Given the description of an element on the screen output the (x, y) to click on. 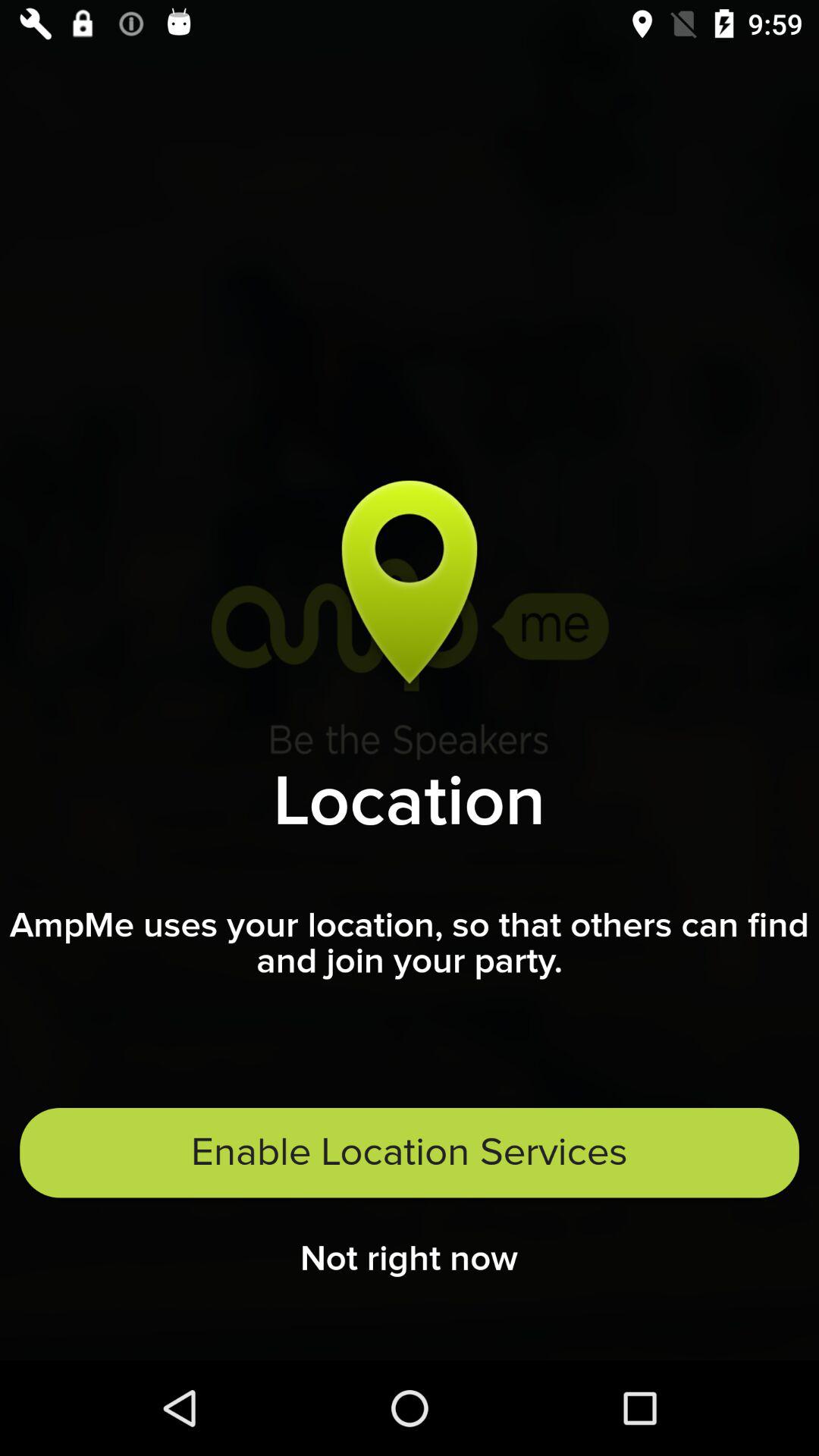
choose the enable location services (409, 1152)
